Given the description of an element on the screen output the (x, y) to click on. 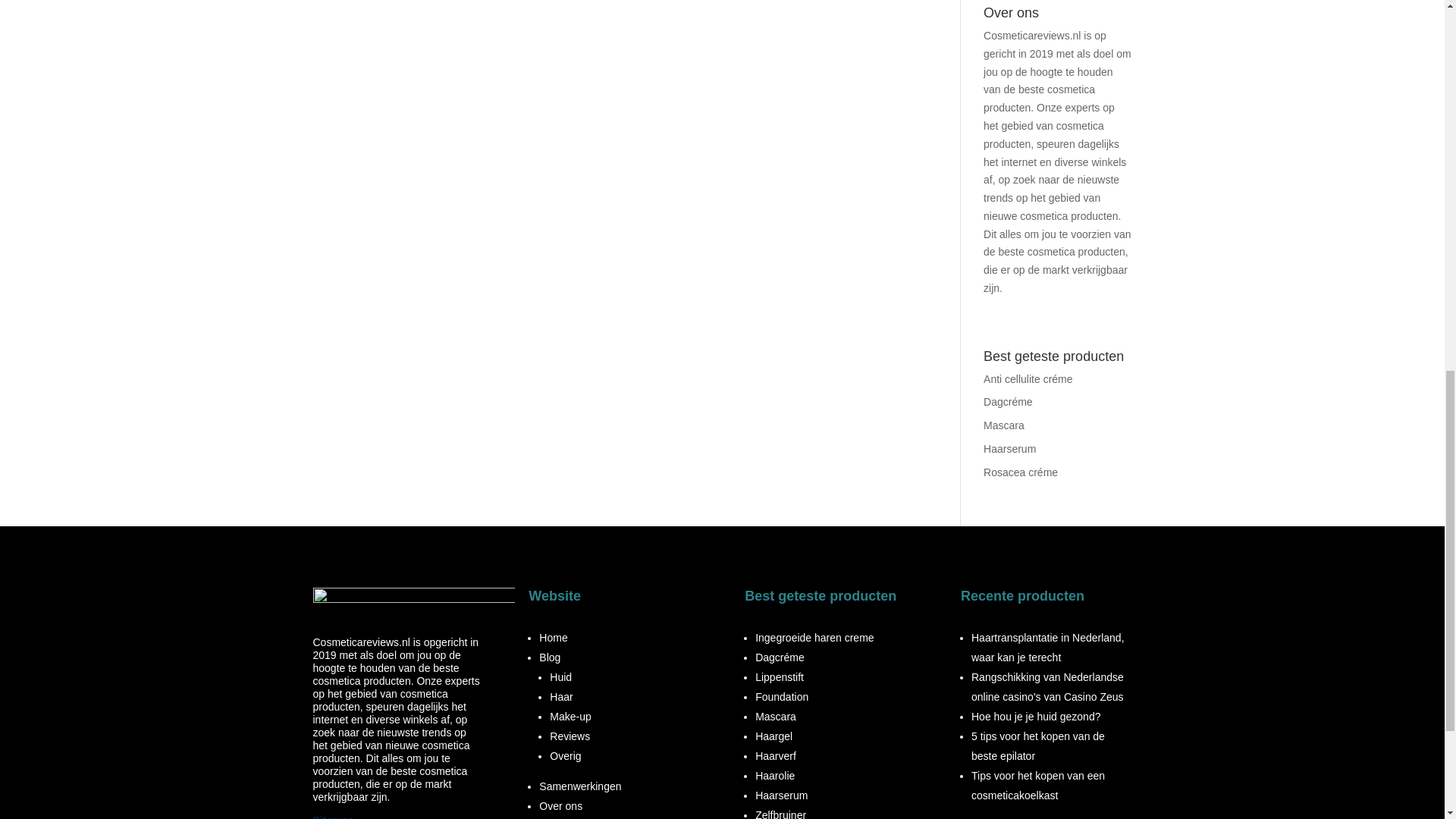
Mascara (1004, 425)
Haarserum (1009, 449)
Sitemap (333, 816)
